Given the description of an element on the screen output the (x, y) to click on. 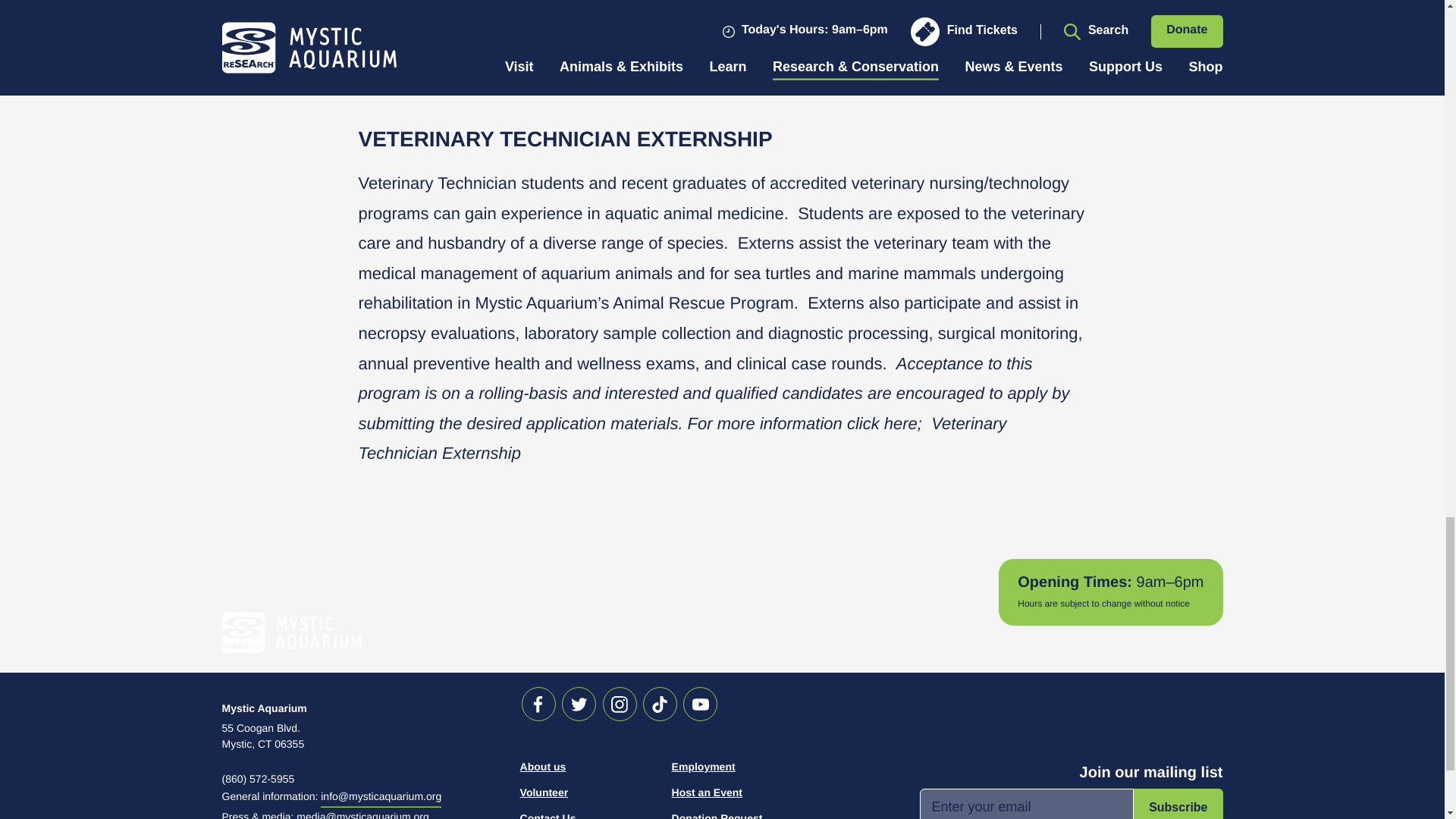
Vet Tech Externship (682, 440)
Subscribe (1178, 803)
